Given the description of an element on the screen output the (x, y) to click on. 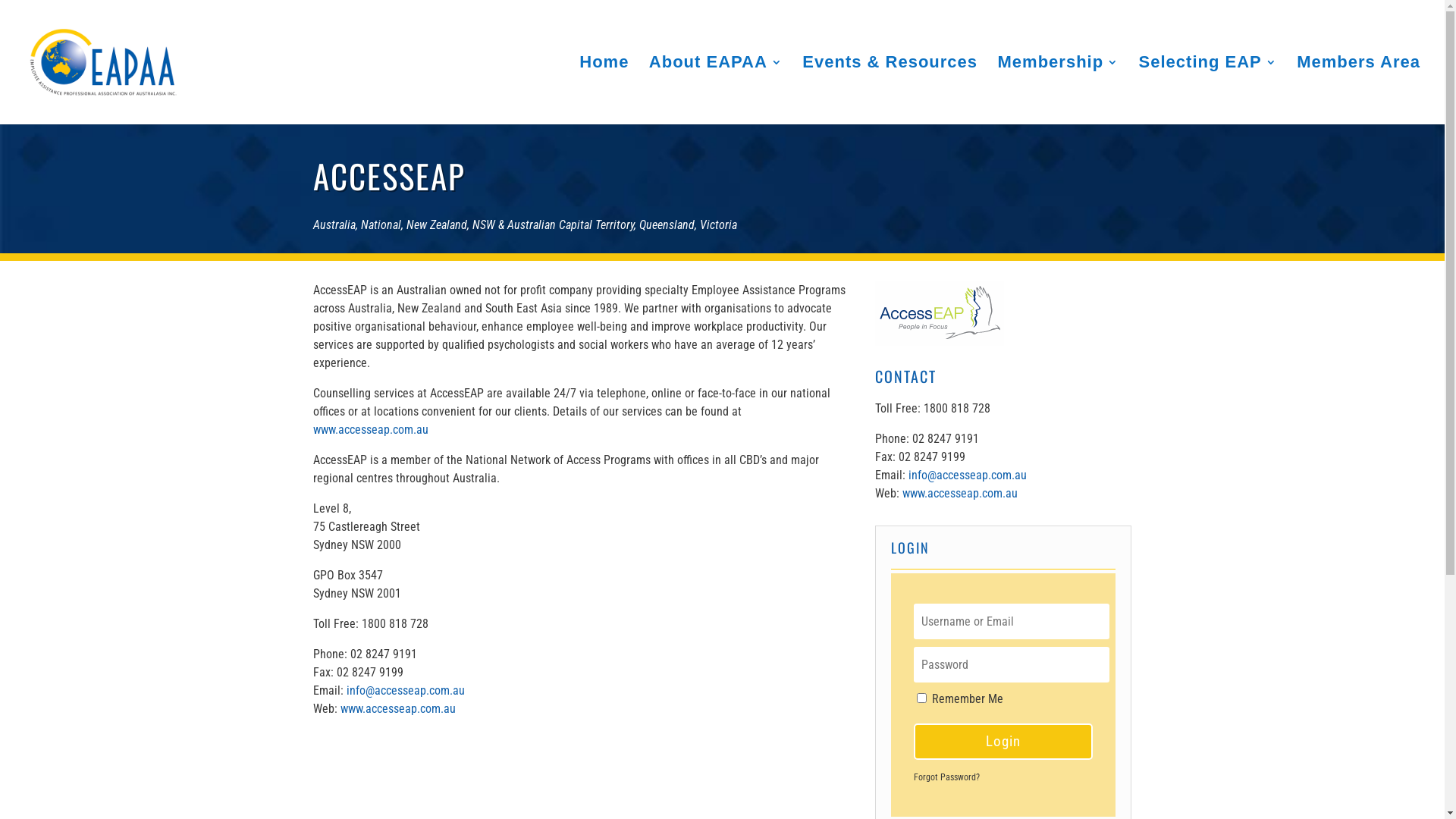
Events & Resources Element type: text (889, 90)
National Element type: text (380, 224)
Forgot Password? Element type: text (946, 776)
Queensland Element type: text (665, 224)
Home Element type: text (603, 90)
www.accesseap.com.au Element type: text (397, 708)
info@accesseap.com.au Element type: text (967, 474)
www.accesseap.com.au Element type: text (959, 493)
About EAPAA Element type: text (715, 90)
Selecting EAP Element type: text (1208, 90)
Members Area Element type: text (1358, 90)
Login Element type: text (1002, 741)
Victoria Element type: text (717, 224)
Australia Element type: text (333, 224)
Membership Element type: text (1058, 90)
NSW & Australian Capital Territory Element type: text (552, 224)
info@accesseap.com.au Element type: text (404, 690)
www.accesseap.com.au Element type: text (369, 429)
New Zealand Element type: text (436, 224)
